Given the description of an element on the screen output the (x, y) to click on. 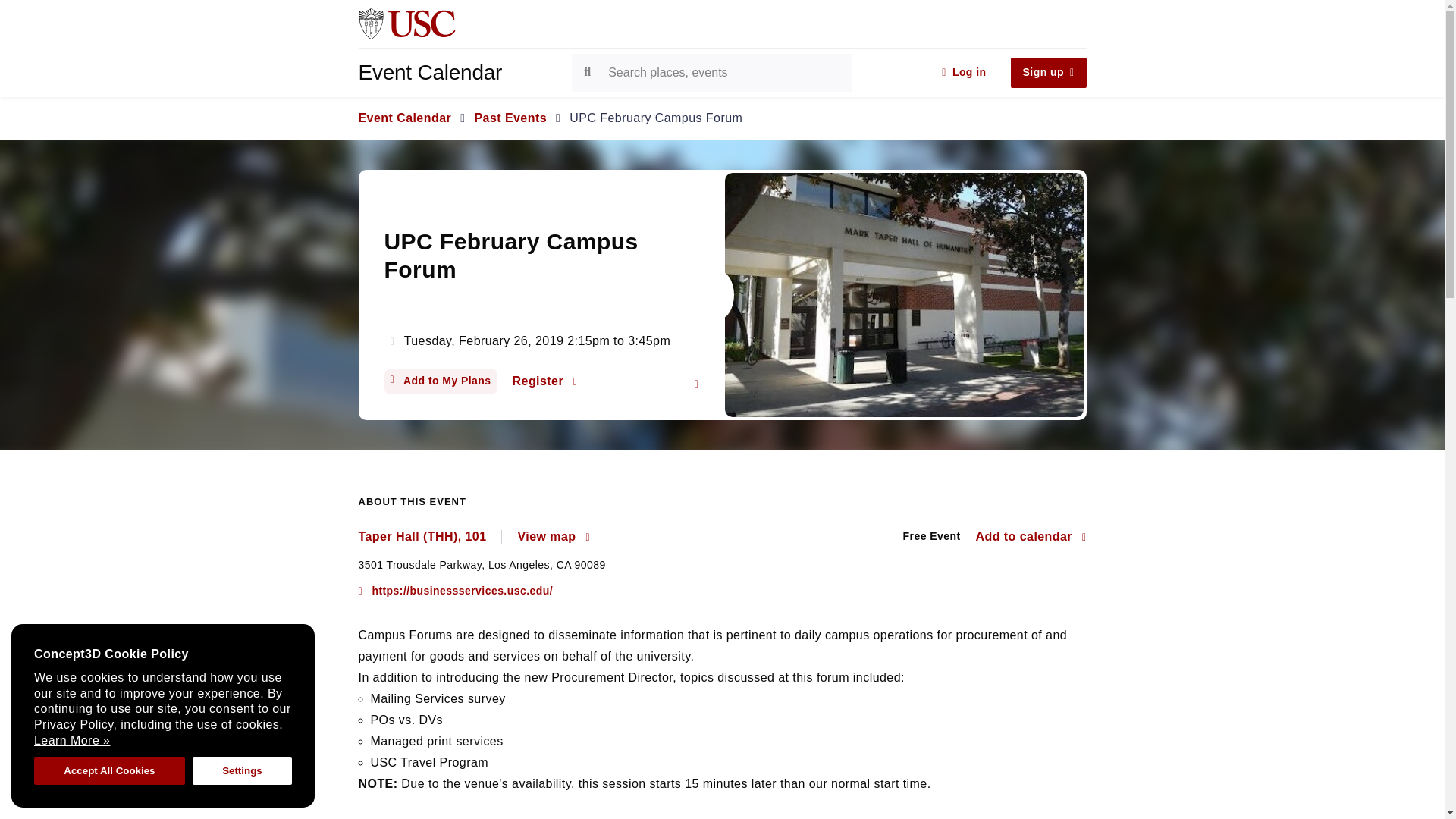
Event Calendar (462, 72)
Add to My Plans (440, 380)
Share UPC February Campus Forum (696, 383)
Sign up (1048, 72)
Go to usc.edu homepage (406, 23)
View map (552, 536)
Event Calendar (404, 117)
Log in (963, 72)
Register (545, 381)
Past Events (510, 117)
Add to calendar (1030, 536)
